Given the description of an element on the screen output the (x, y) to click on. 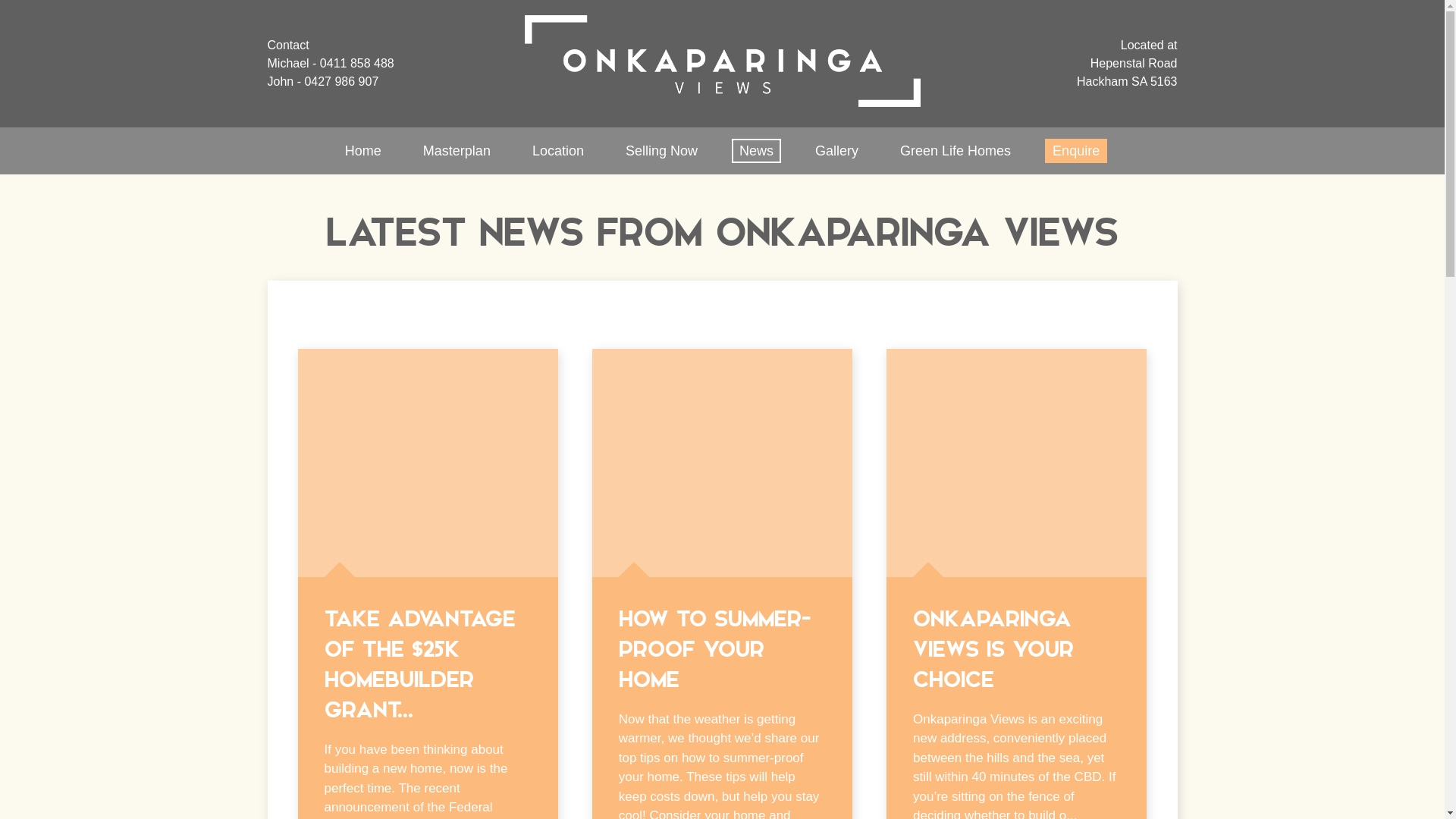
ONKAPARINGA VIEWS IS YOUR CHOICE Element type: text (993, 648)
Gallery Element type: text (836, 150)
News Element type: text (756, 150)
Green Life Homes Element type: text (955, 150)
Home Element type: text (363, 150)
Enquire Element type: text (1075, 150)
HOW TO SUMMER-PROOF YOUR HOME Element type: text (714, 648)
0427 986 907 Element type: text (341, 81)
0411 858 488 Element type: text (357, 62)
Selling Now Element type: text (661, 150)
Masterplan Element type: text (456, 150)
TAKE ADVANTAGE OF THE $25K HOMEBUILDER GRANT... Element type: text (419, 663)
Location Element type: text (557, 150)
